Given the description of an element on the screen output the (x, y) to click on. 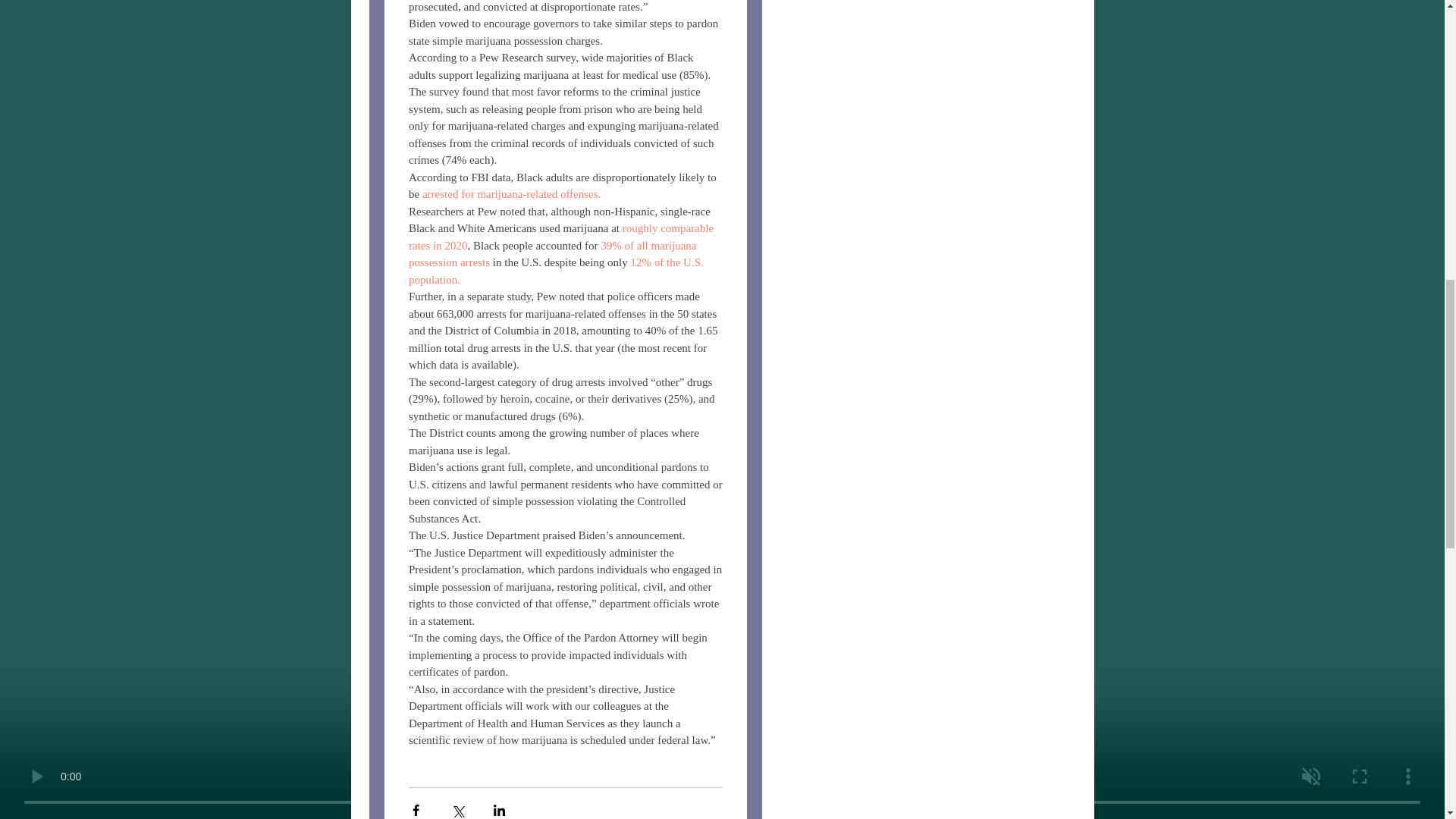
roughly comparable rates in 2020 (561, 236)
arrested for marijuana-related offenses. (510, 193)
